Given the description of an element on the screen output the (x, y) to click on. 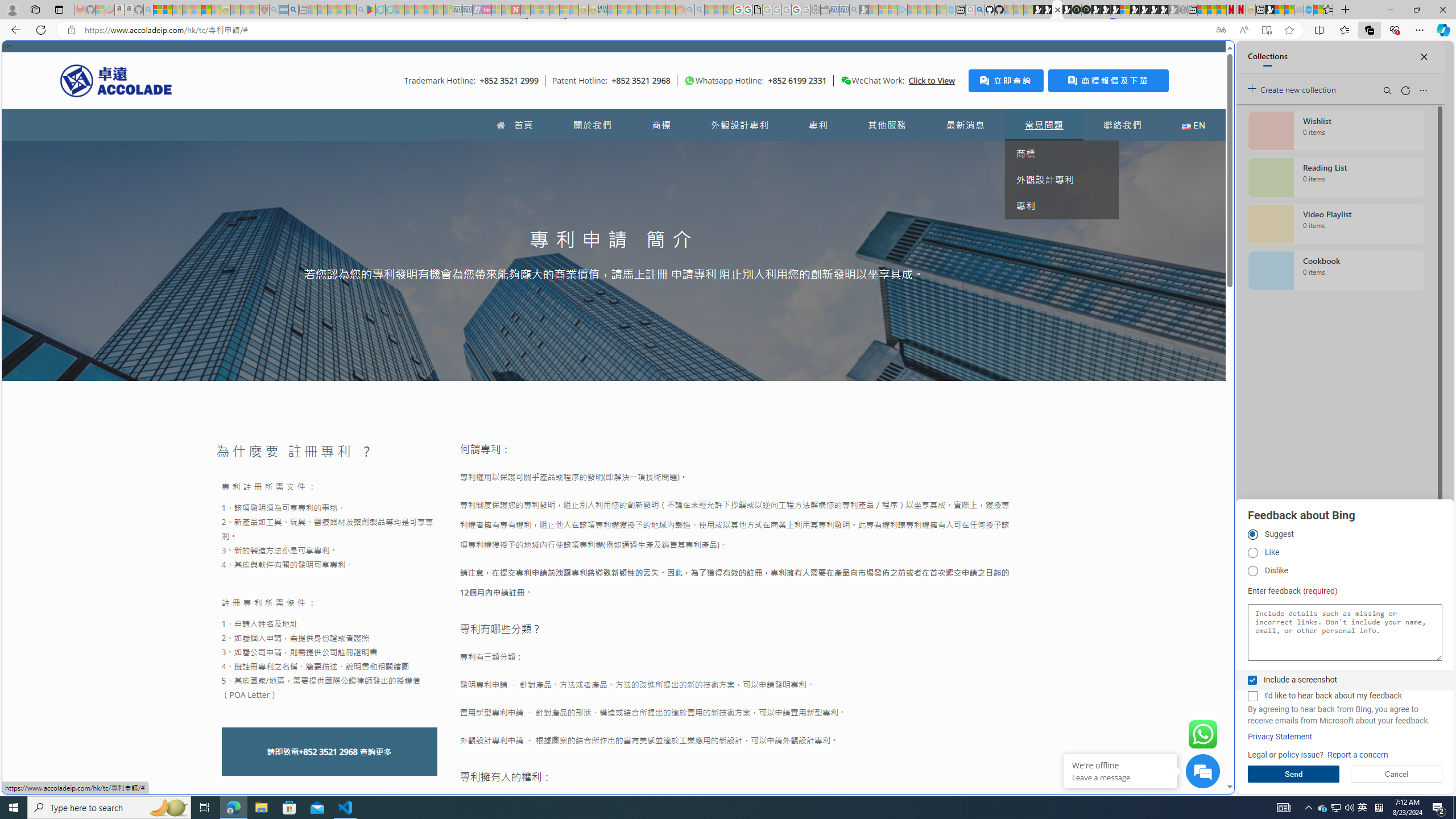
Jobs - lastminute.com Investor Portal - Sleeping (486, 9)
MSNBC - MSN - Sleeping (611, 9)
google_privacy_policy_zh-CN.pdf (1118, 683)
Send (1293, 773)
Cheap Hotels - Save70.com - Sleeping (467, 9)
Sign in to your account (1124, 9)
